Given the description of an element on the screen output the (x, y) to click on. 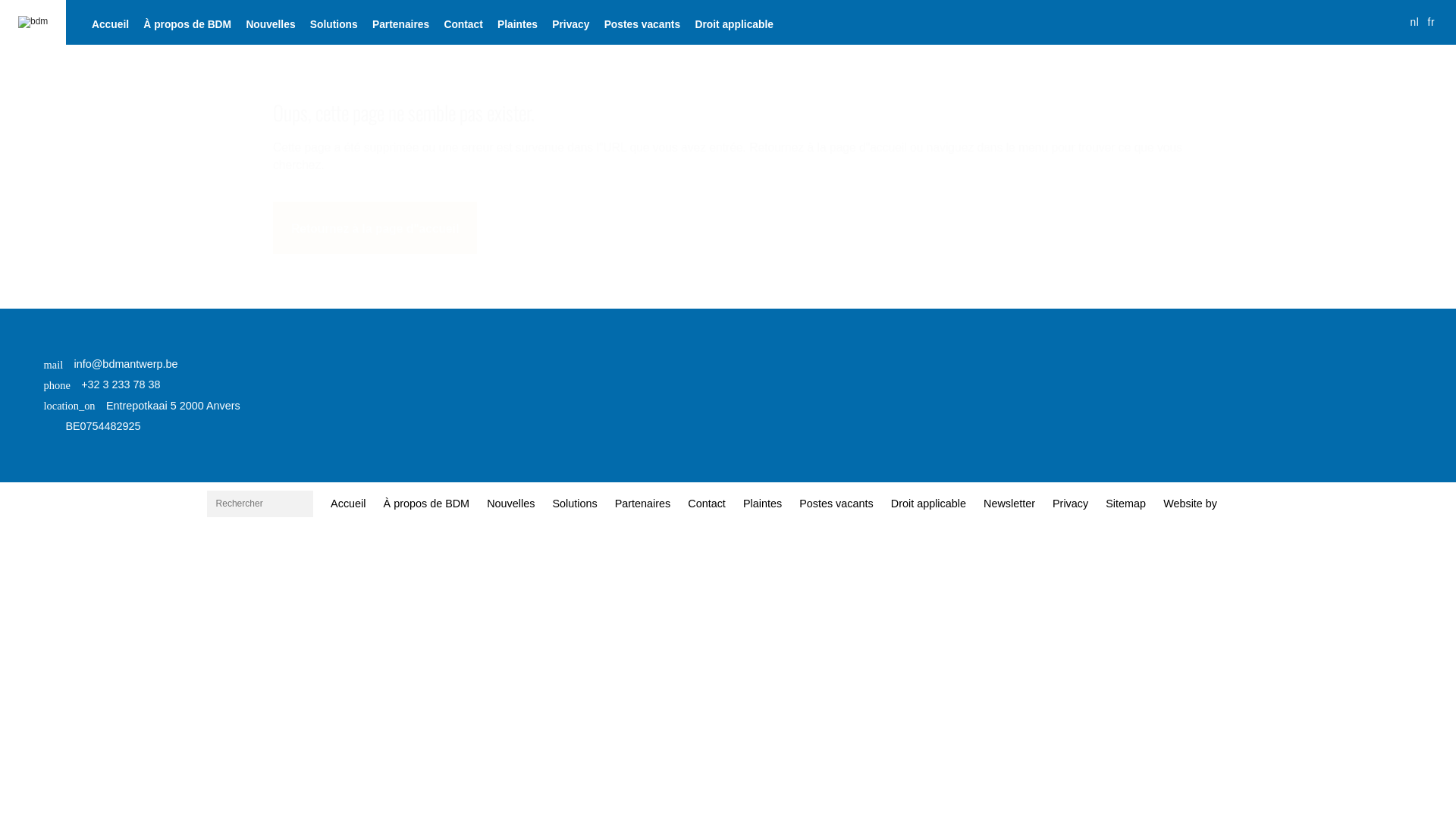
x Element type: text (743, 424)
mail
info@bdmantwerp.be Element type: text (141, 364)
Newsletter Element type: text (1008, 503)
Partenaires Element type: text (400, 24)
Contact Element type: text (706, 503)
Plaintes Element type: text (517, 24)
Droit applicable Element type: text (927, 503)
Privacy Element type: text (1069, 503)
Partenaires Element type: text (642, 503)
Droit applicable Element type: text (734, 24)
Postes vacants Element type: text (836, 503)
Privacy Element type: text (570, 24)
Nouvelles Element type: text (510, 503)
Webhero Element type: hover (1234, 503)
bdm Element type: hover (32, 21)
Accueil Element type: text (109, 24)
Postes vacants Element type: text (641, 24)
location_on
Entrepotkaai 5 2000 Anvers Element type: text (141, 405)
Plaintes Element type: text (762, 503)
Sitemap Element type: text (1125, 503)
Accueil Element type: text (348, 503)
Contact Element type: text (462, 24)
fr Element type: text (1430, 22)
Solutions Element type: text (574, 503)
Website by Element type: text (1190, 503)
nl Element type: text (1413, 22)
Solutions Element type: text (333, 24)
Nouvelles Element type: text (270, 24)
phone
+32 3 233 78 38 Element type: text (141, 384)
